Given the description of an element on the screen output the (x, y) to click on. 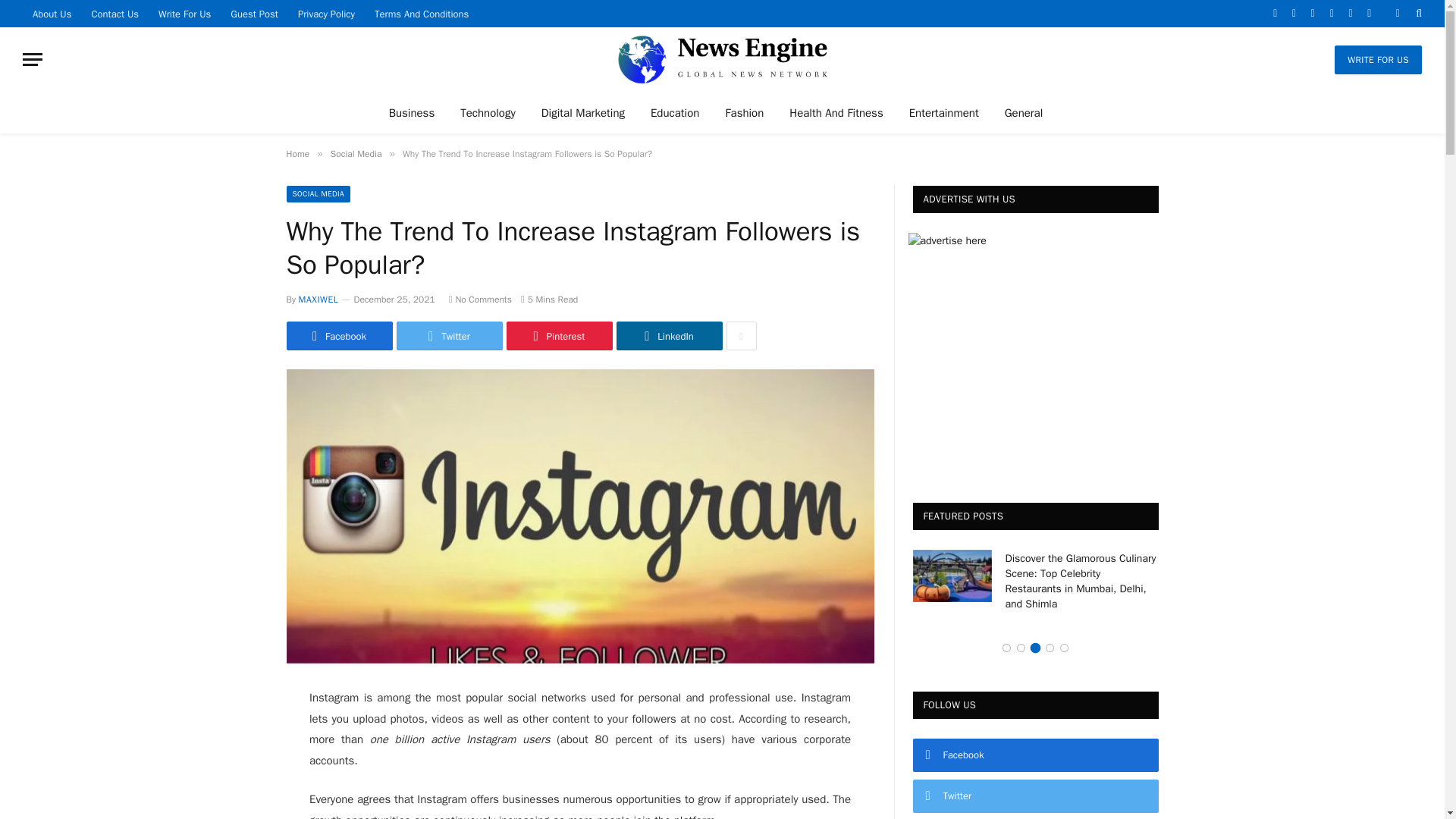
News Engine (722, 59)
Switch to Dark Design - easier on eyes. (1397, 13)
